Given the description of an element on the screen output the (x, y) to click on. 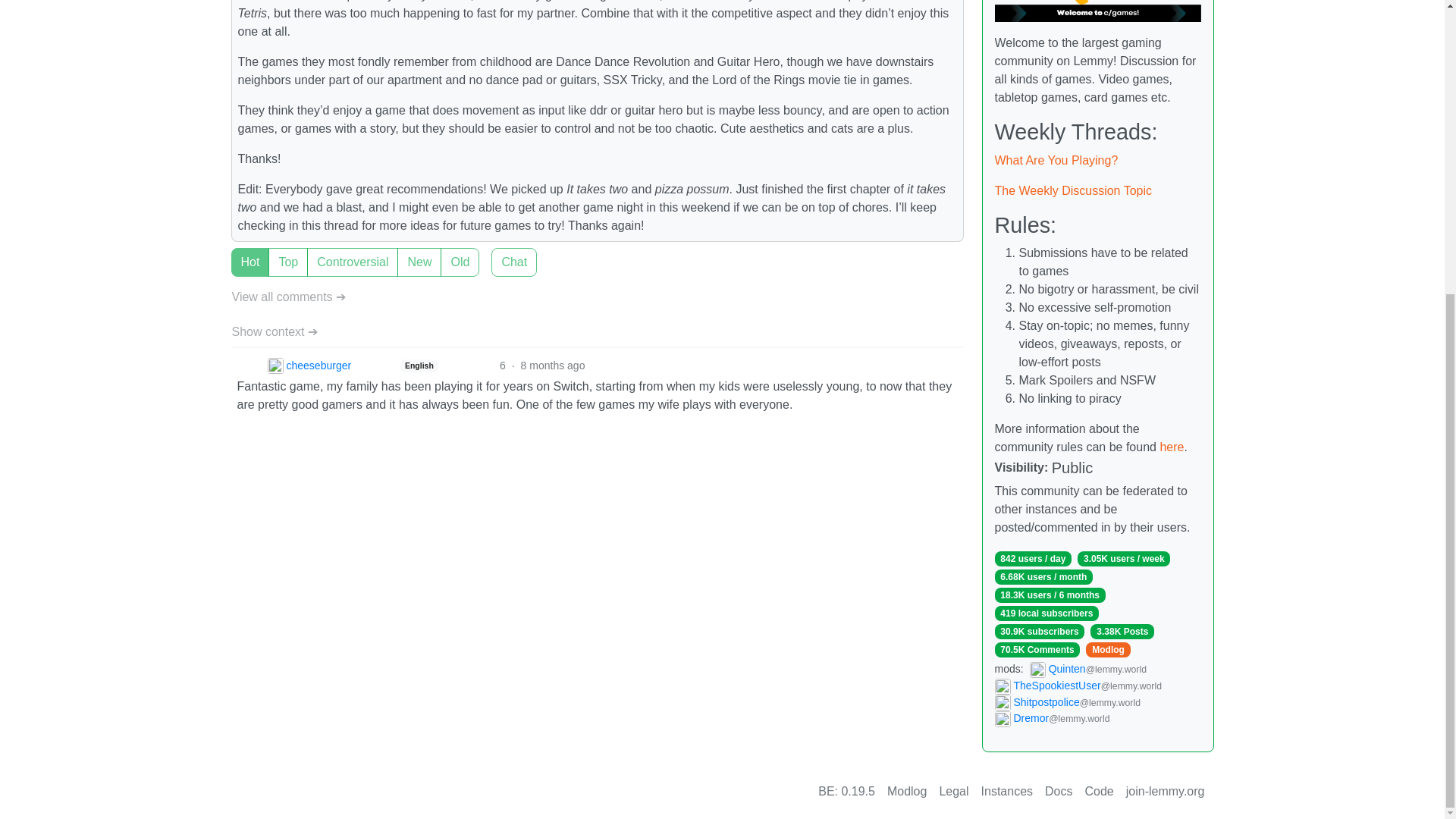
Top (235, 252)
1 (496, 252)
Old (235, 252)
cheeseburger (308, 365)
Hot (235, 252)
New (235, 252)
Controversial (235, 252)
